Given the description of an element on the screen output the (x, y) to click on. 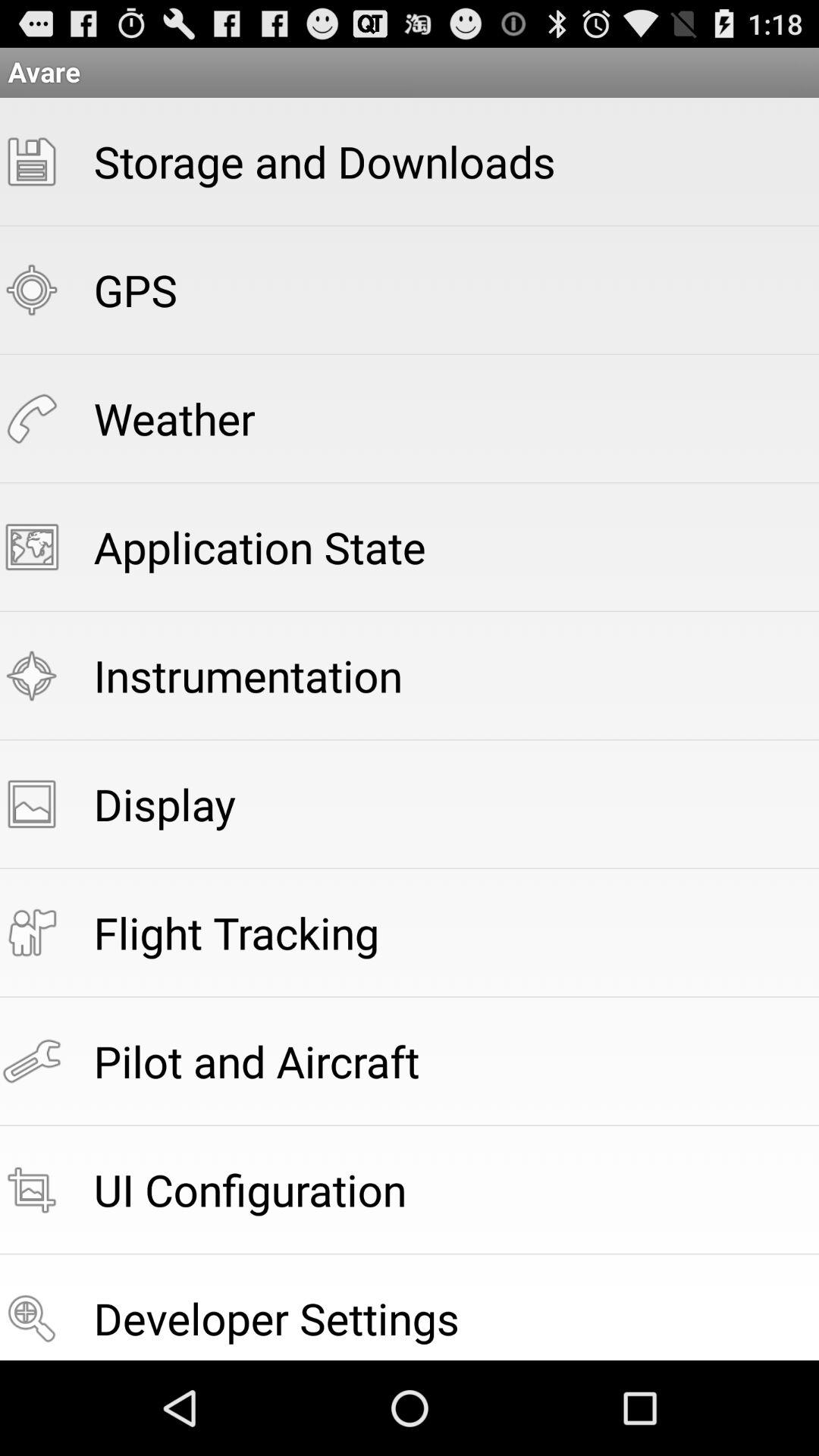
select item above developer settings icon (249, 1189)
